Given the description of an element on the screen output the (x, y) to click on. 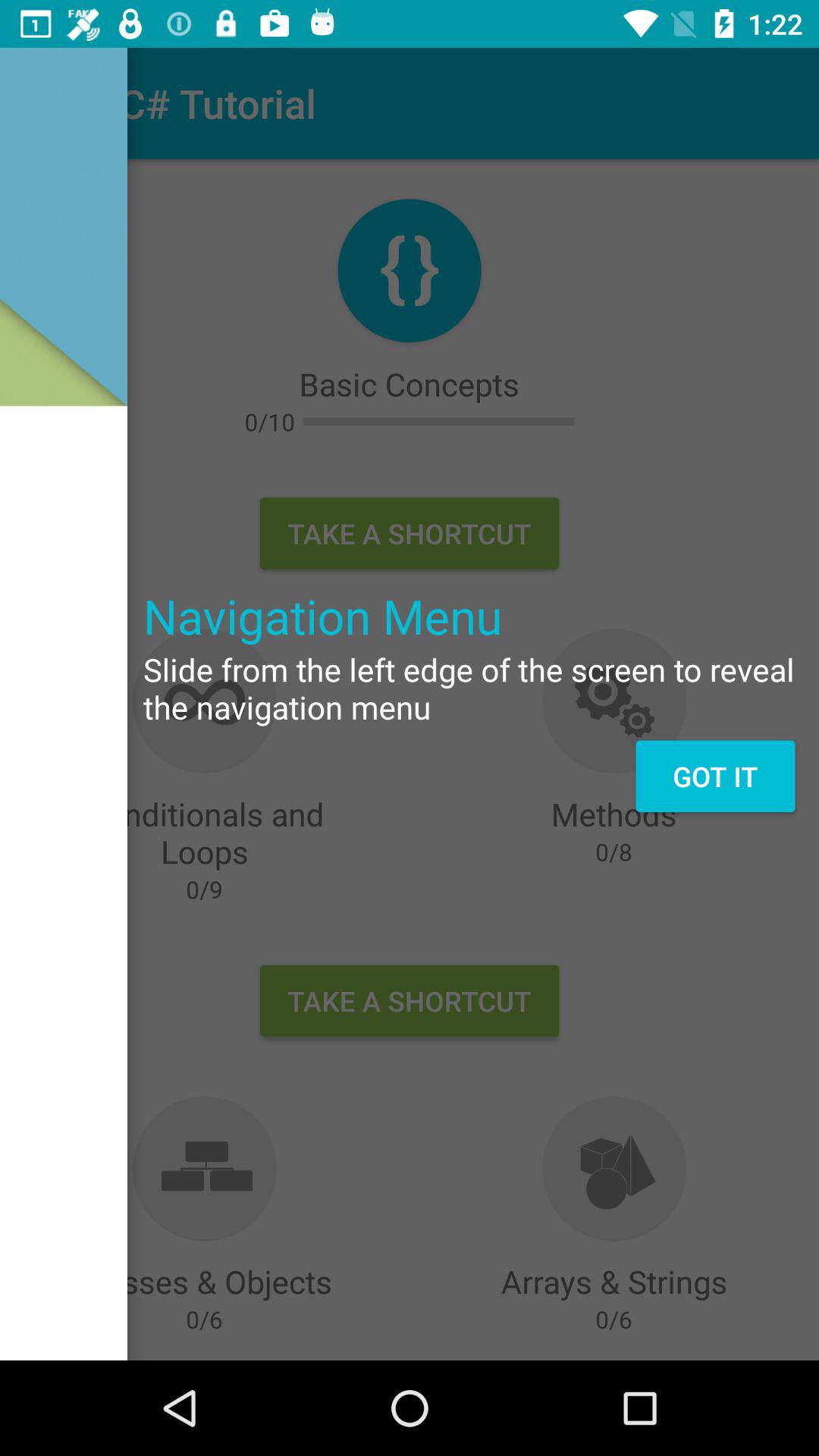
turn on the got it (715, 776)
